Given the description of an element on the screen output the (x, y) to click on. 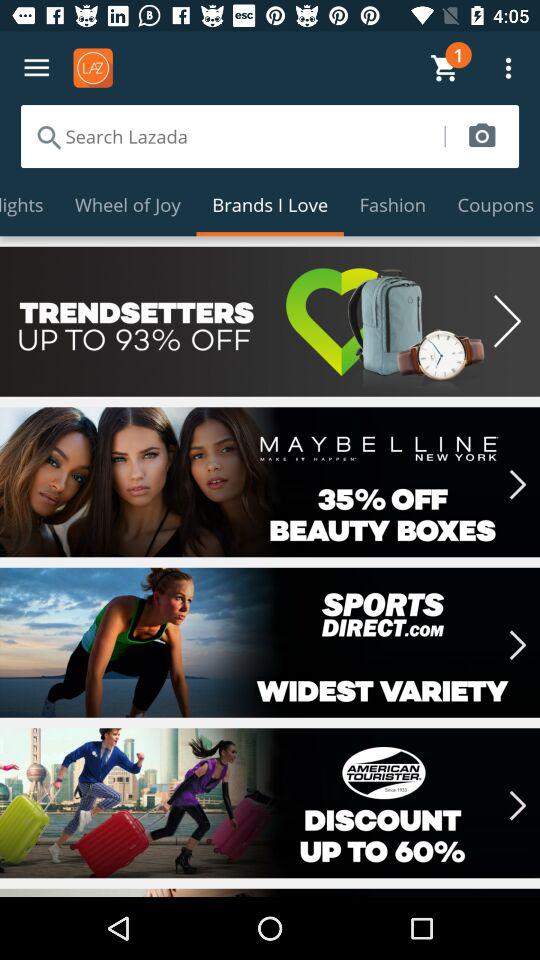
choose discount for american tourister (270, 803)
